Given the description of an element on the screen output the (x, y) to click on. 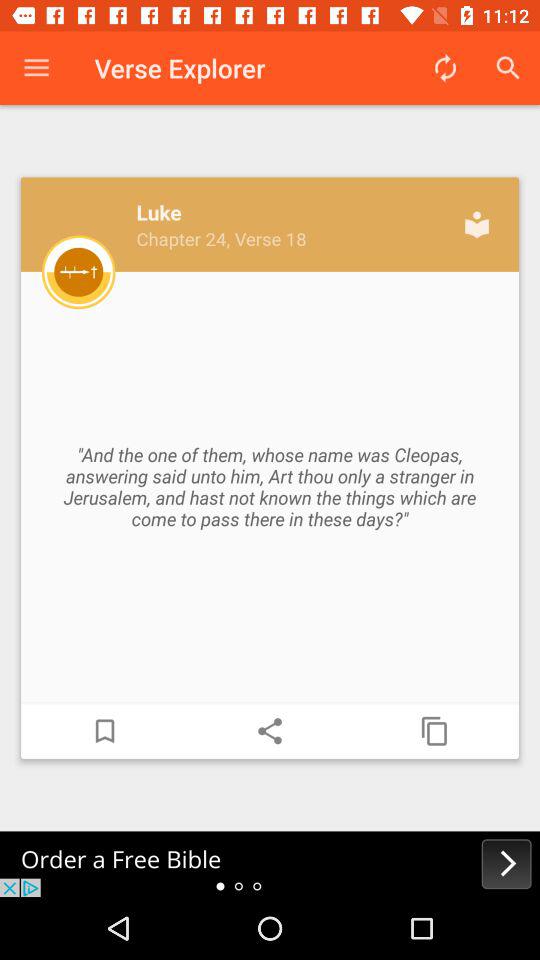
add bookmark (105, 731)
